Given the description of an element on the screen output the (x, y) to click on. 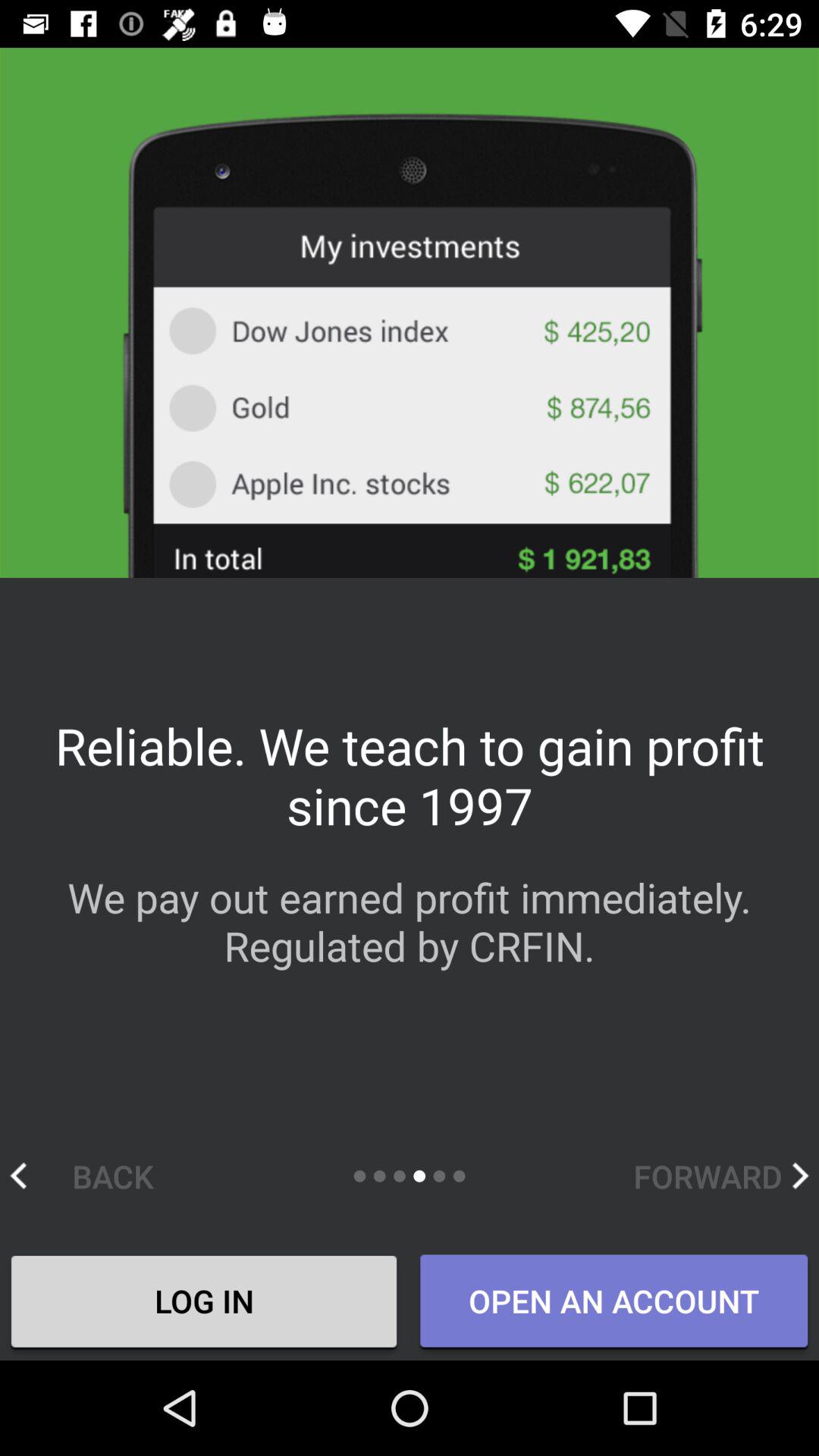
choose the back (97, 1175)
